Given the description of an element on the screen output the (x, y) to click on. 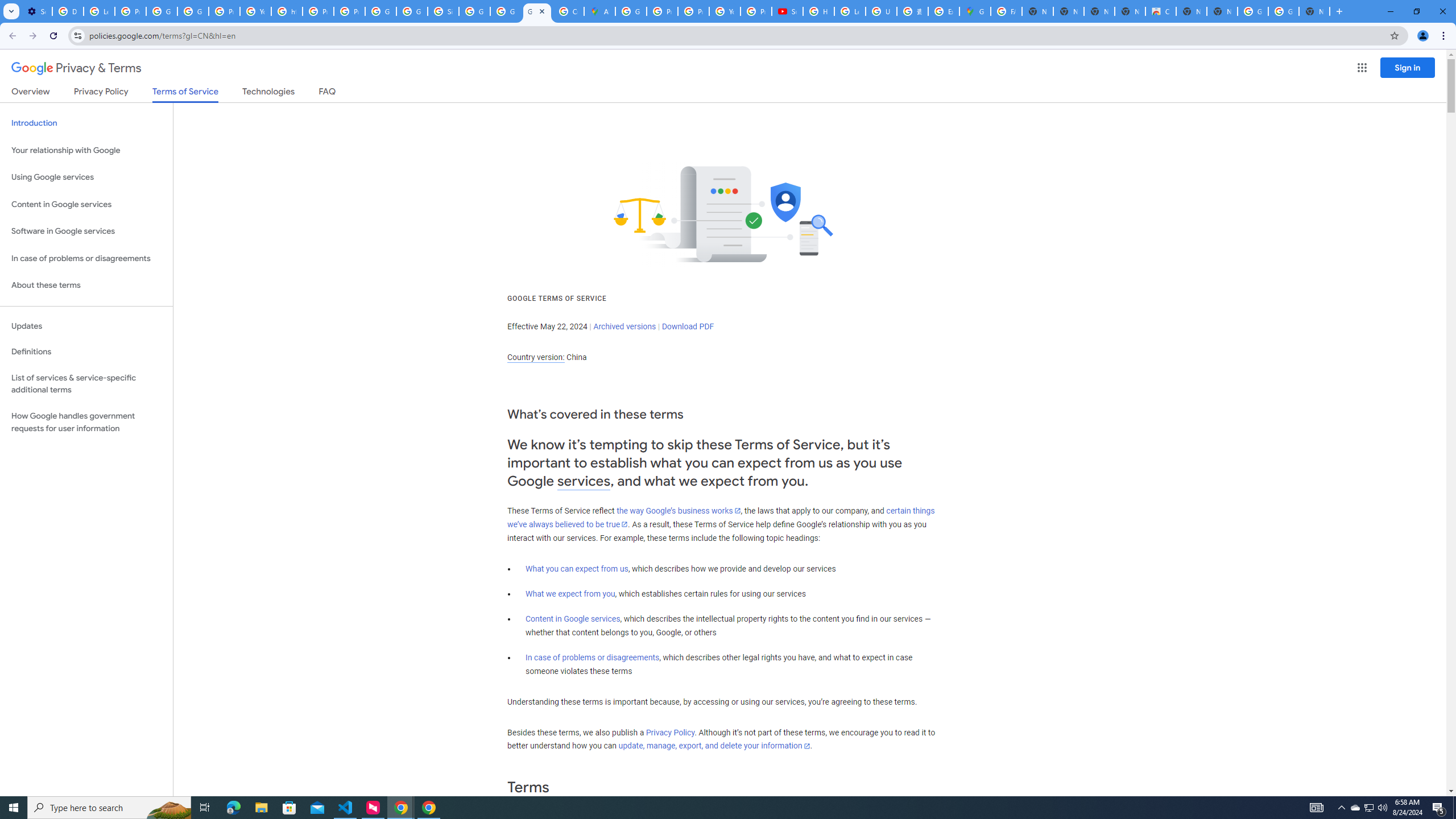
Archived versions (624, 326)
YouTube (724, 11)
Google Images (1283, 11)
What you can expect from us (576, 568)
Explore new street-level details - Google Maps Help (943, 11)
Software in Google services (86, 230)
